Given the description of an element on the screen output the (x, y) to click on. 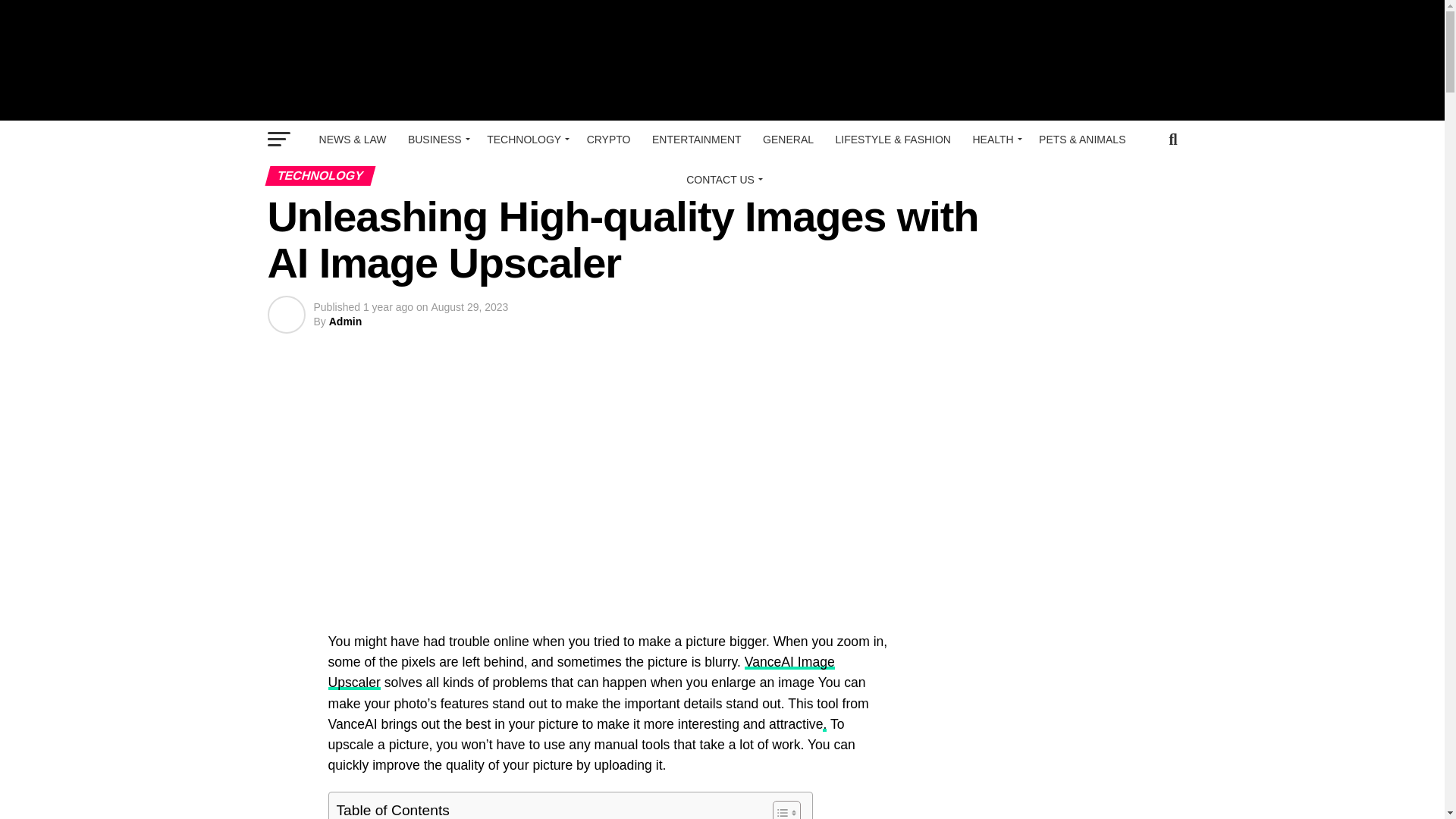
BUSINESS (436, 139)
Posts by Admin (345, 321)
TECHNOLOGY (525, 139)
